Given the description of an element on the screen output the (x, y) to click on. 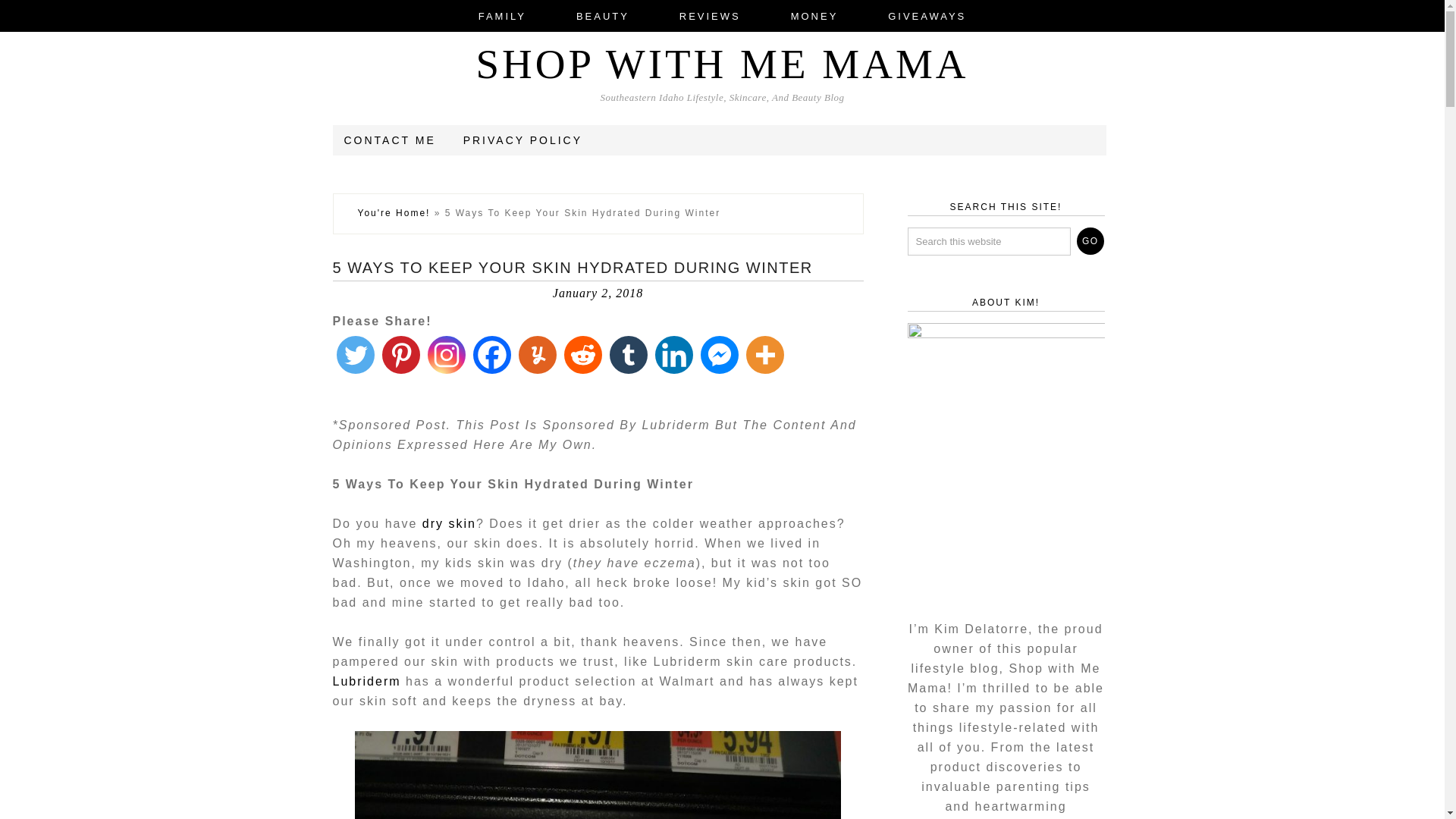
Pinterest (400, 354)
GIVEAWAYS (926, 15)
You're Home! (394, 213)
CONTACT ME (389, 140)
Instagram (446, 354)
Twitter (354, 354)
More (764, 354)
GO (1090, 240)
REVIEWS (709, 15)
Yummly (536, 354)
